Given the description of an element on the screen output the (x, y) to click on. 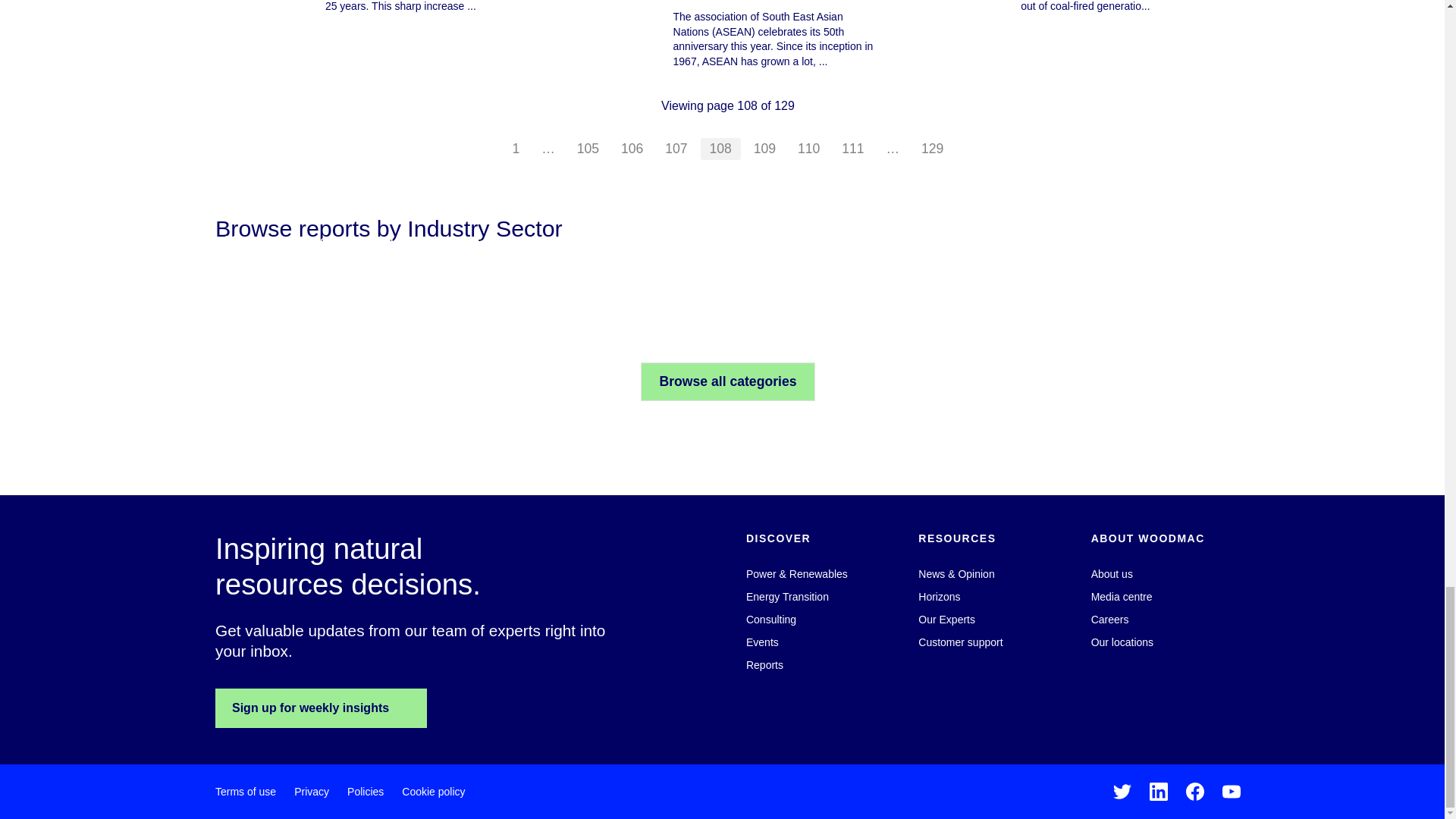
Consulting (770, 619)
About us (1111, 573)
Events (761, 642)
Energy Transition (786, 596)
Horizons (938, 596)
Careers (1109, 619)
Our locations (1121, 642)
Media centre (1121, 596)
Our Experts (946, 619)
Customer support (960, 642)
